Given the description of an element on the screen output the (x, y) to click on. 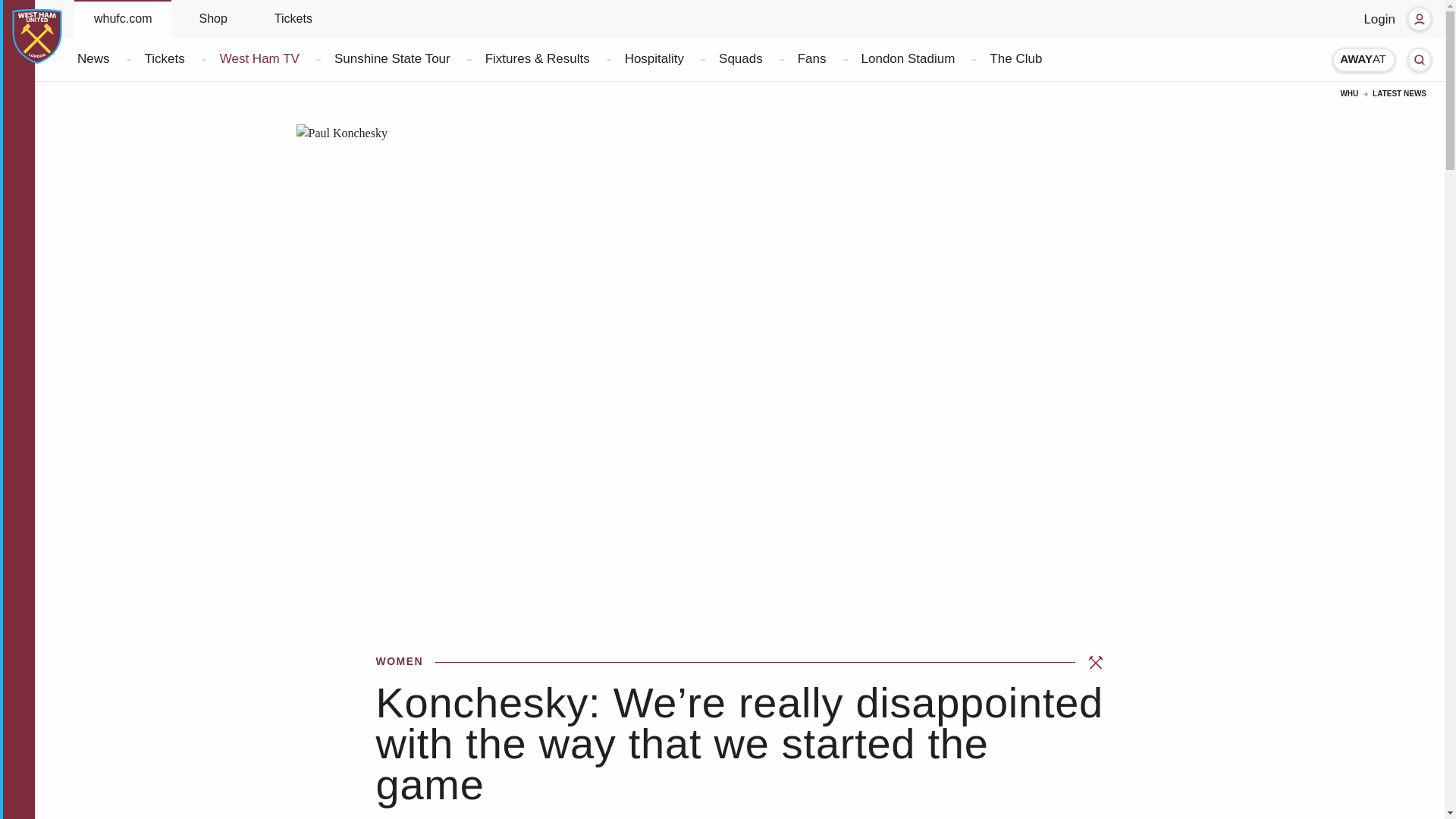
whufc.com (122, 18)
West Ham TV (258, 59)
Shop (212, 18)
Tickets (164, 59)
Tickets (164, 59)
CRYSTAL PALACE VS WEST HAM UNITED (1363, 58)
News (92, 59)
Sunshine State Tour (391, 59)
Tickets (292, 18)
Westham Football Club (36, 36)
News (92, 59)
Login (1396, 18)
